Given the description of an element on the screen output the (x, y) to click on. 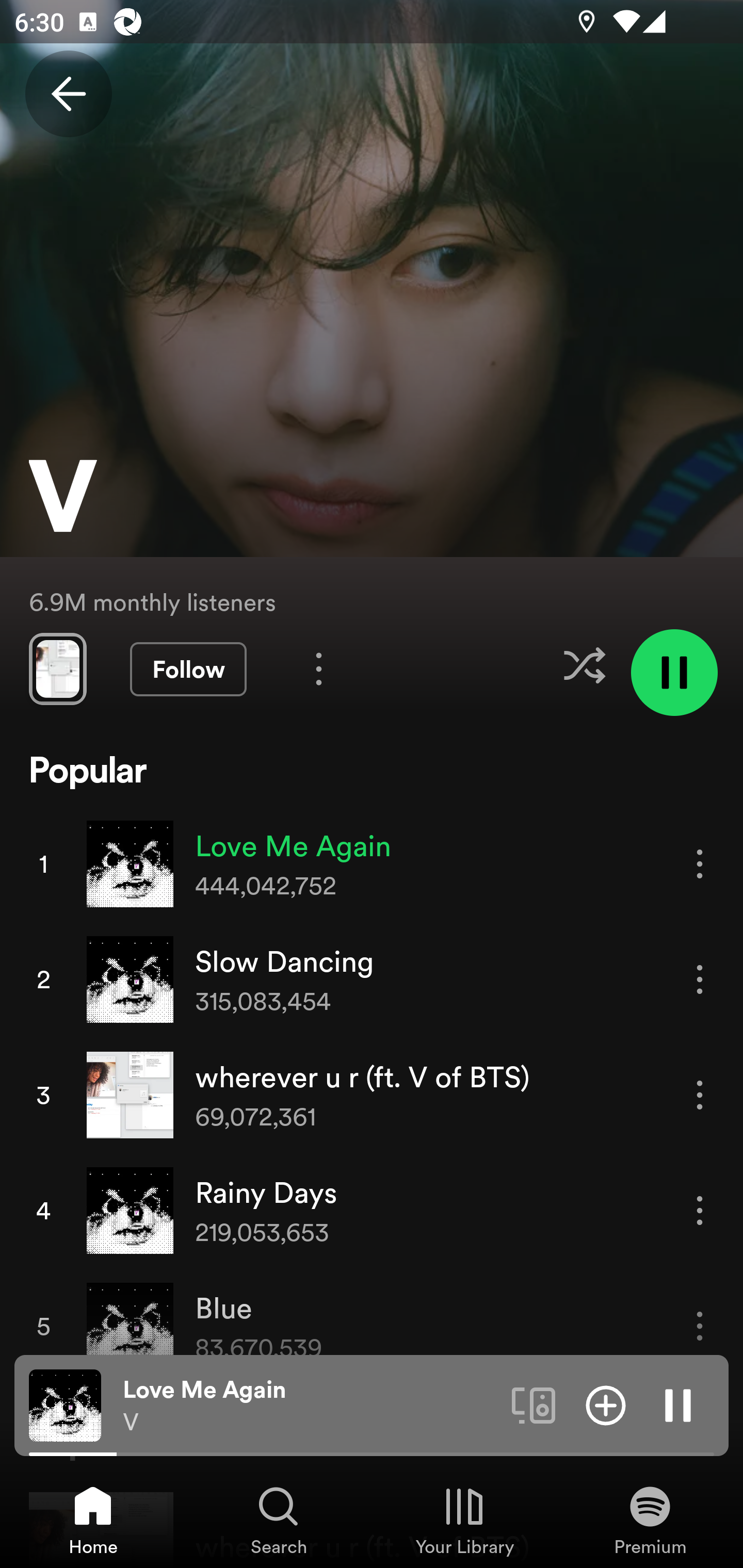
Back (68, 93)
Enable shuffle for this artist (583, 665)
More options for artist V (318, 668)
Pause artist (674, 672)
Follow (188, 669)
More options for song Love Me Again (699, 863)
More options for song Slow Dancing (699, 979)
More options for song wherever u r (ft. V of BTS) (699, 1095)
More options for song Rainy Days (699, 1210)
More options for song Blue (699, 1325)
Love Me Again V (309, 1405)
The cover art of the currently playing track (64, 1404)
Connect to a device. Opens the devices menu (533, 1404)
Add item (605, 1404)
Pause (677, 1404)
Home, Tab 1 of 4 Home Home (92, 1519)
Search, Tab 2 of 4 Search Search (278, 1519)
Your Library, Tab 3 of 4 Your Library Your Library (464, 1519)
Premium, Tab 4 of 4 Premium Premium (650, 1519)
